Given the description of an element on the screen output the (x, y) to click on. 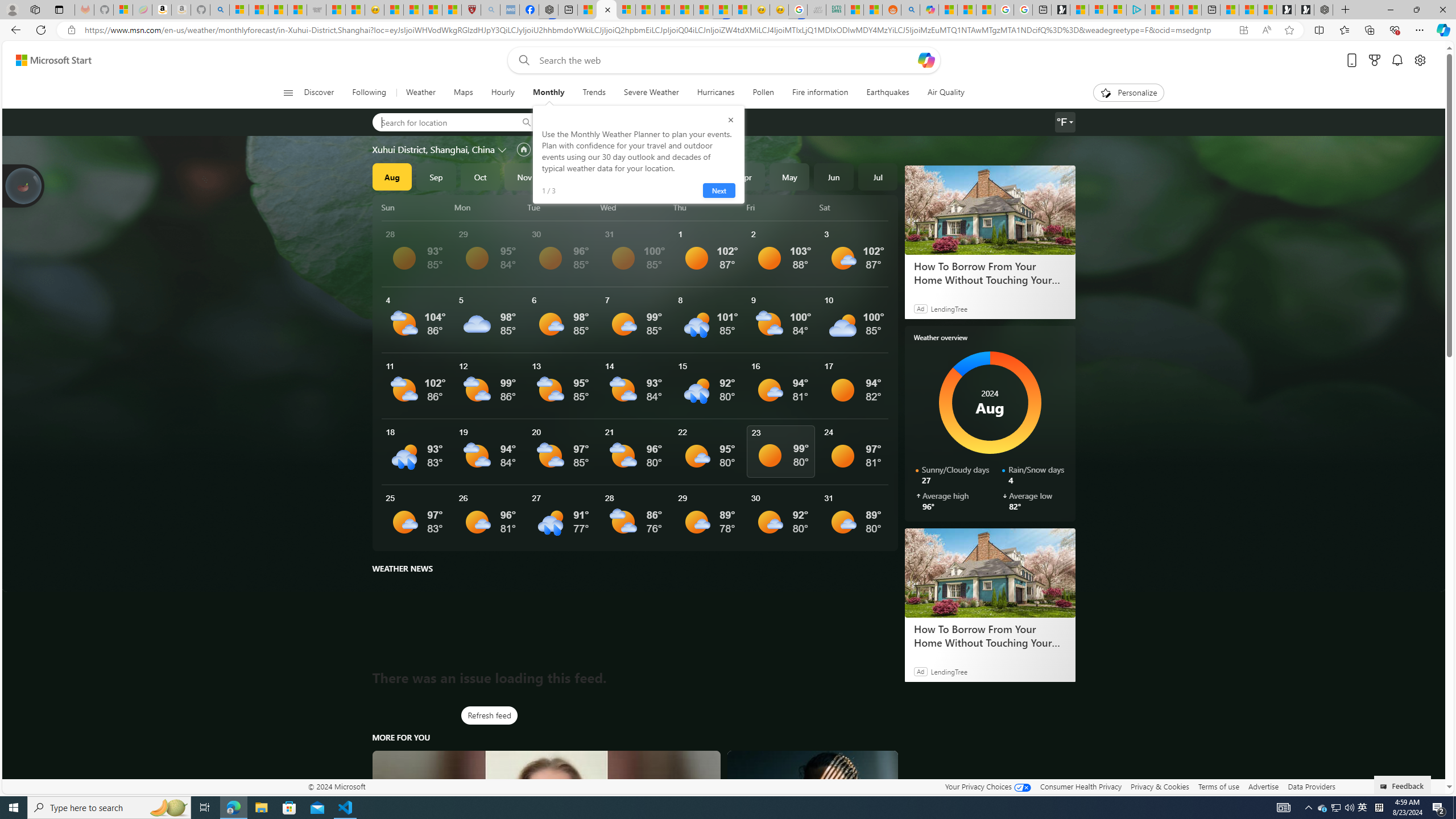
Jul (877, 176)
Recipes - MSN (393, 9)
Robert H. Shmerling, MD - Harvard Health (471, 9)
Pollen (763, 92)
MSN (721, 9)
Join us in planting real trees to help our planet! (23, 184)
Next (718, 190)
Jun (833, 176)
